Given the description of an element on the screen output the (x, y) to click on. 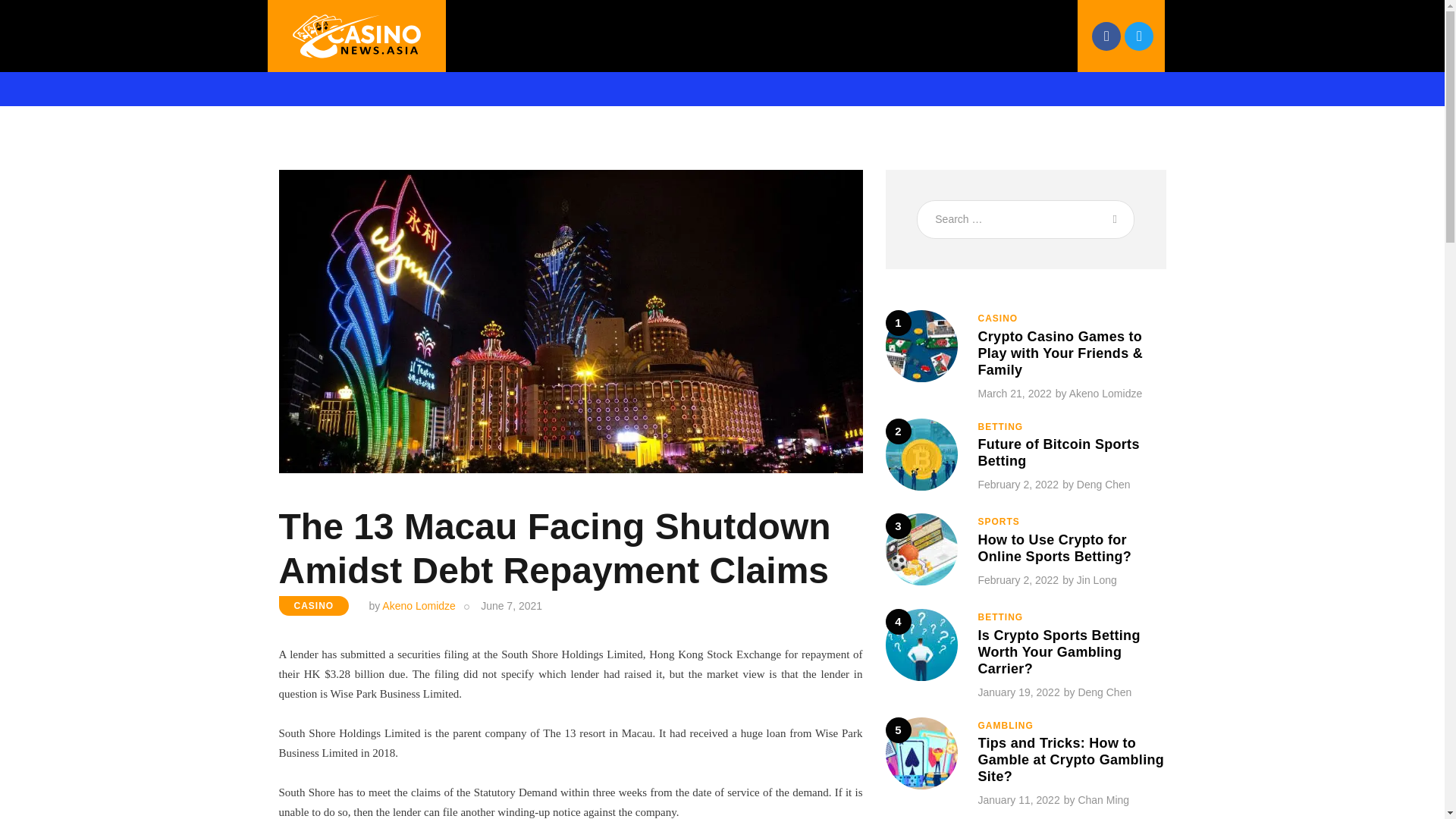
by Akeno Lomidze (422, 605)
View all posts in Casino (997, 317)
View all posts in Betting (1000, 426)
View all posts in Sports (999, 521)
View all posts in Betting (1000, 616)
Search (1111, 219)
Search (1111, 219)
CASINO (314, 605)
View all posts in Gambling (1005, 725)
